Given the description of an element on the screen output the (x, y) to click on. 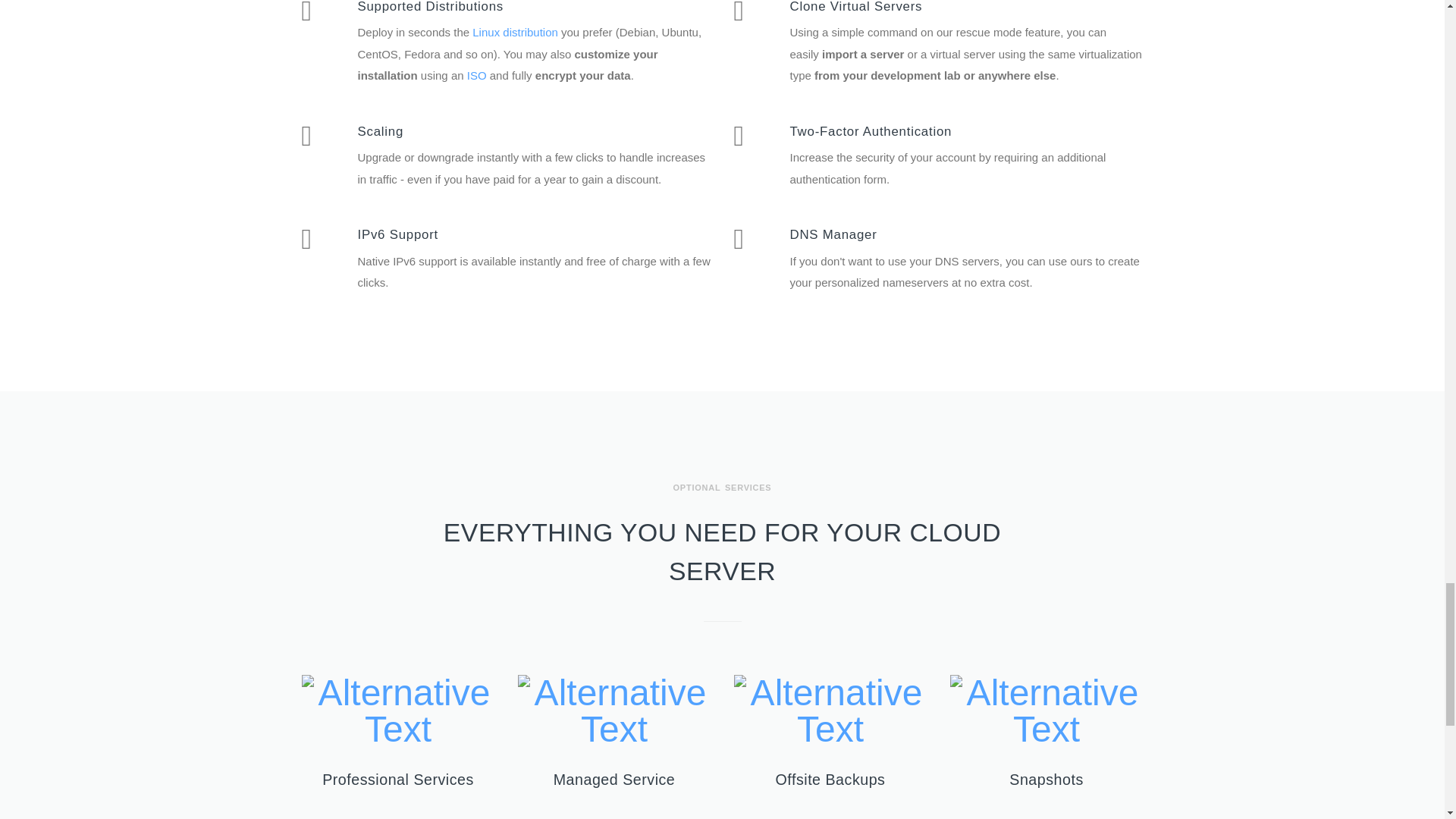
Snapshots (1046, 779)
ISO (476, 74)
Managed Service (614, 779)
Supported Distributions (430, 6)
Offsite Backups (830, 779)
Professional Services (397, 779)
Linux distribution (514, 31)
